Given the description of an element on the screen output the (x, y) to click on. 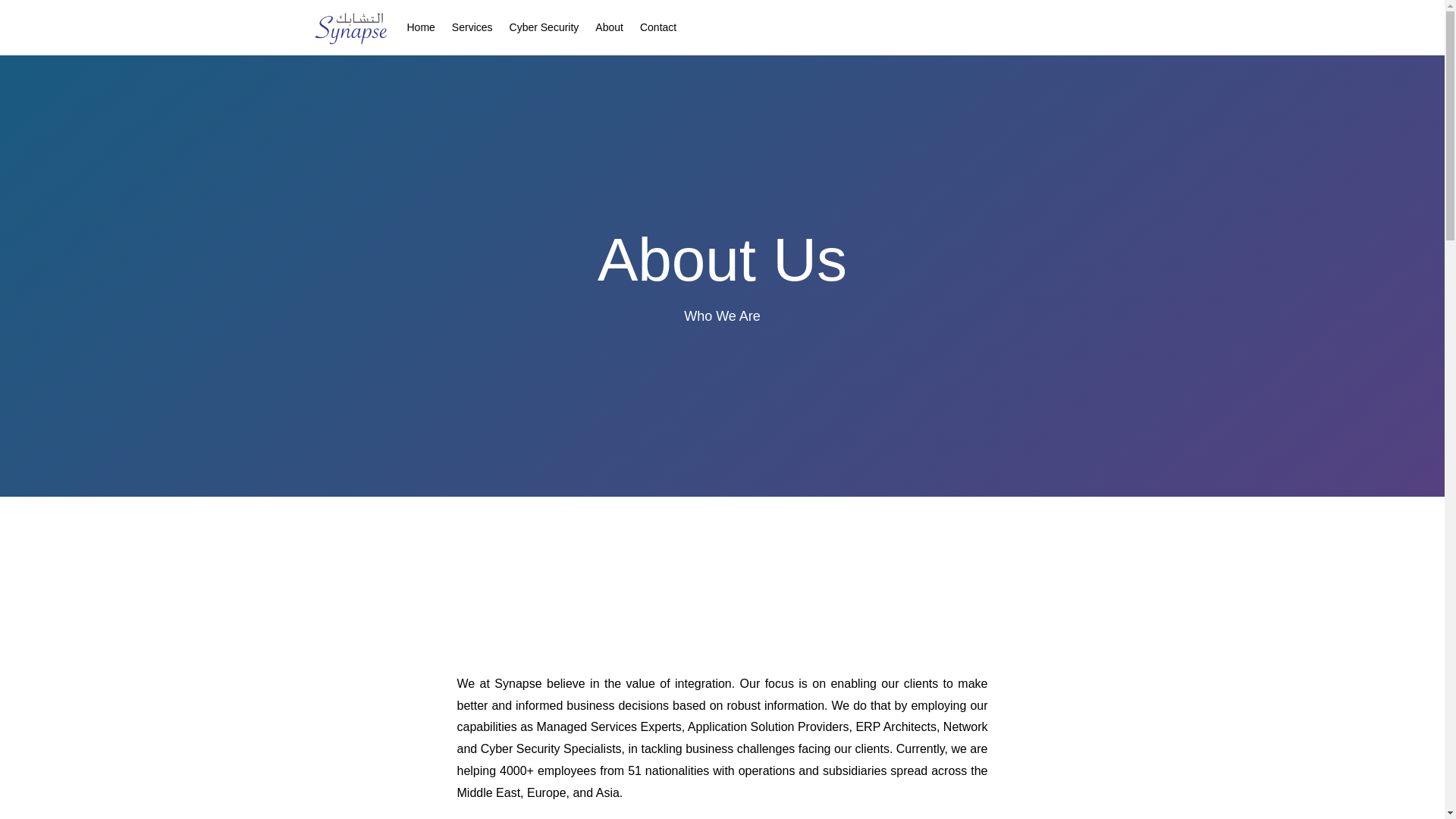
Contact (658, 31)
About (609, 31)
Home (419, 31)
Cyber Security (544, 31)
Services (472, 31)
